Given the description of an element on the screen output the (x, y) to click on. 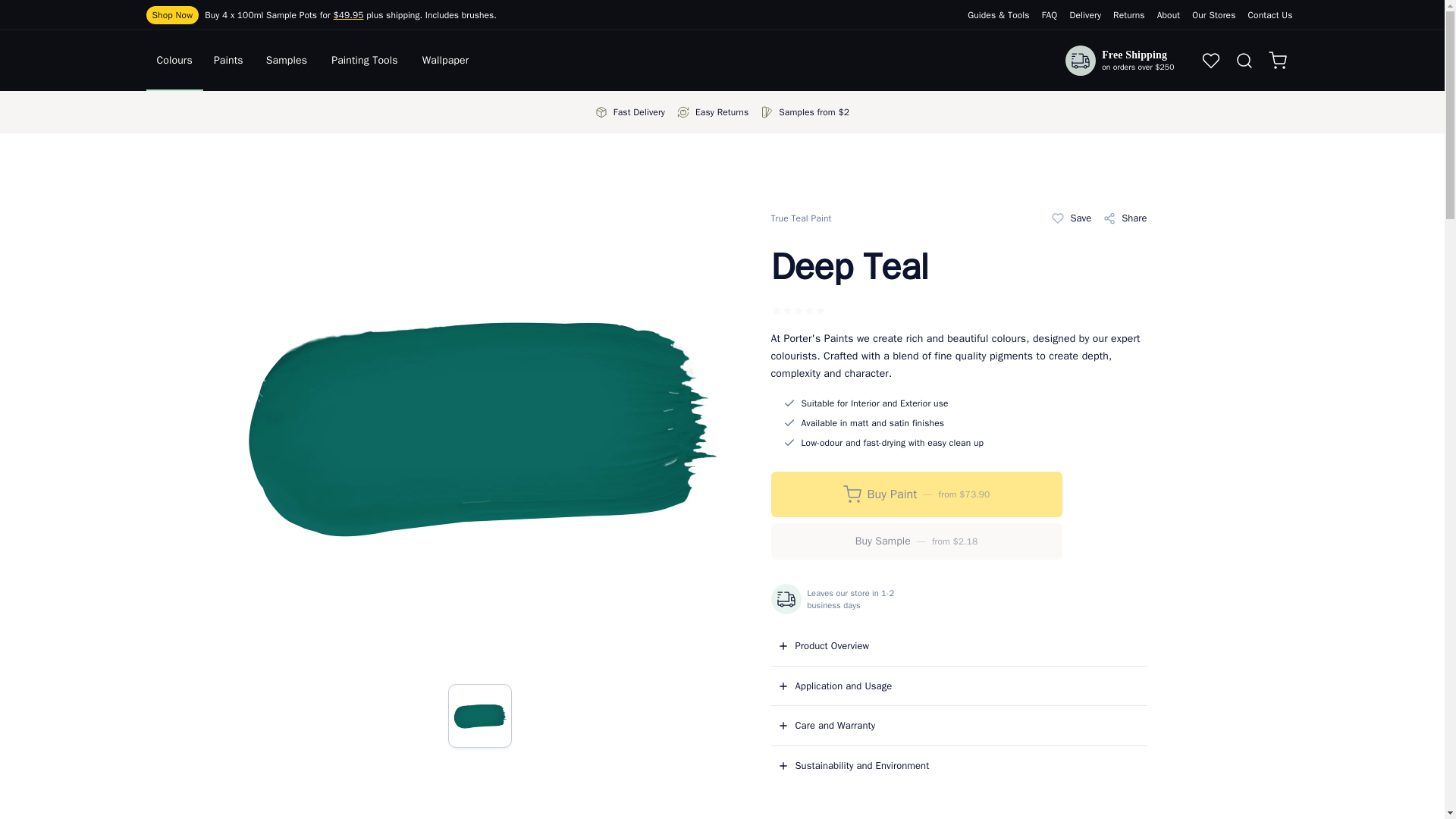
Share (1125, 218)
Sustainability and Environment (852, 765)
Shop Now (171, 14)
Delivery (1084, 15)
Application and Usage (834, 685)
Shopping Cart (1280, 60)
Favorites (1210, 60)
Product Overview (822, 645)
Returns (1128, 15)
Colours (173, 66)
FAQ (1050, 15)
Search (1243, 60)
Save (1067, 218)
Samples (285, 66)
Our Stores (1213, 15)
